Given the description of an element on the screen output the (x, y) to click on. 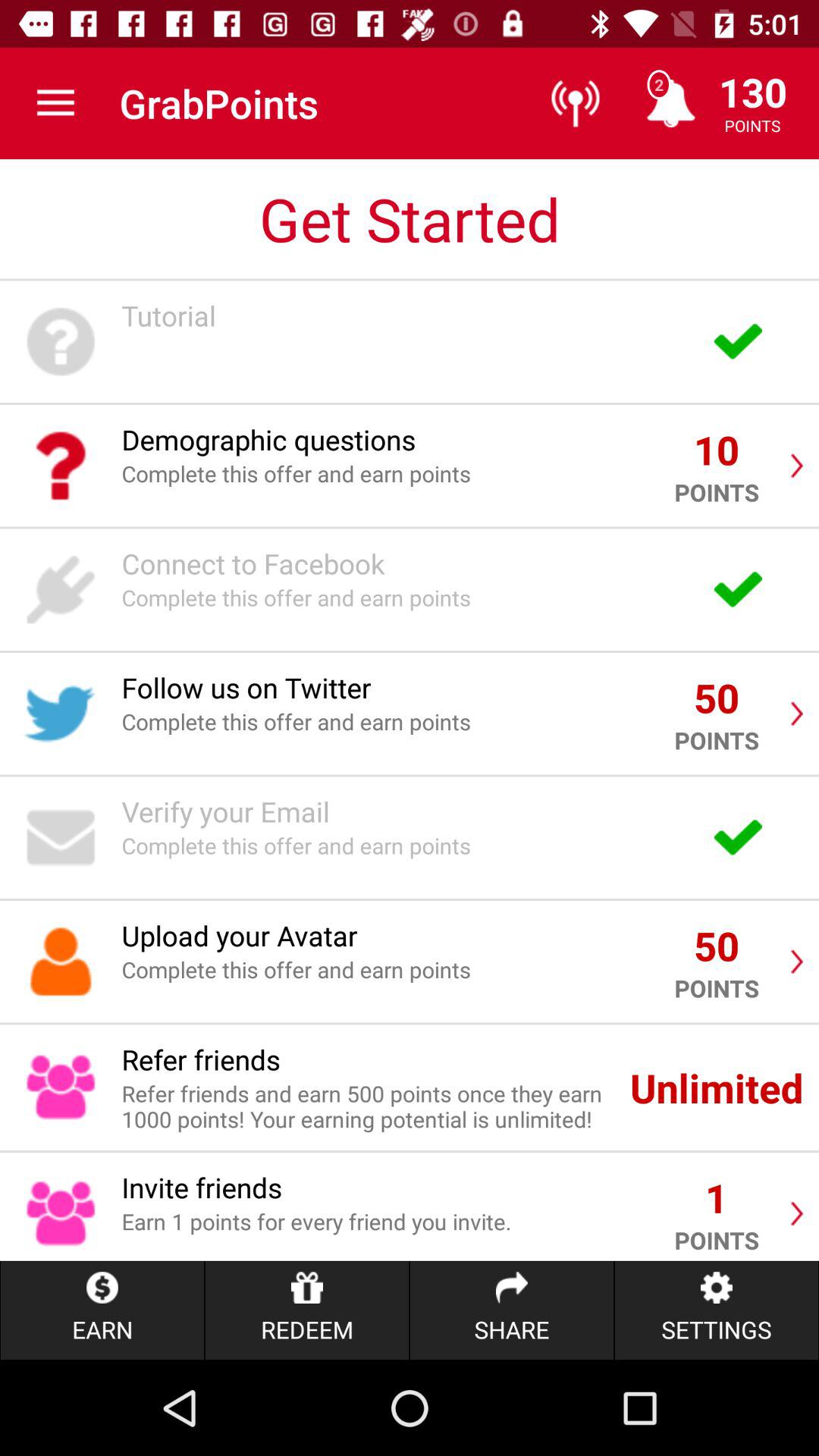
turn off item to the right of redeem item (511, 1310)
